Given the description of an element on the screen output the (x, y) to click on. 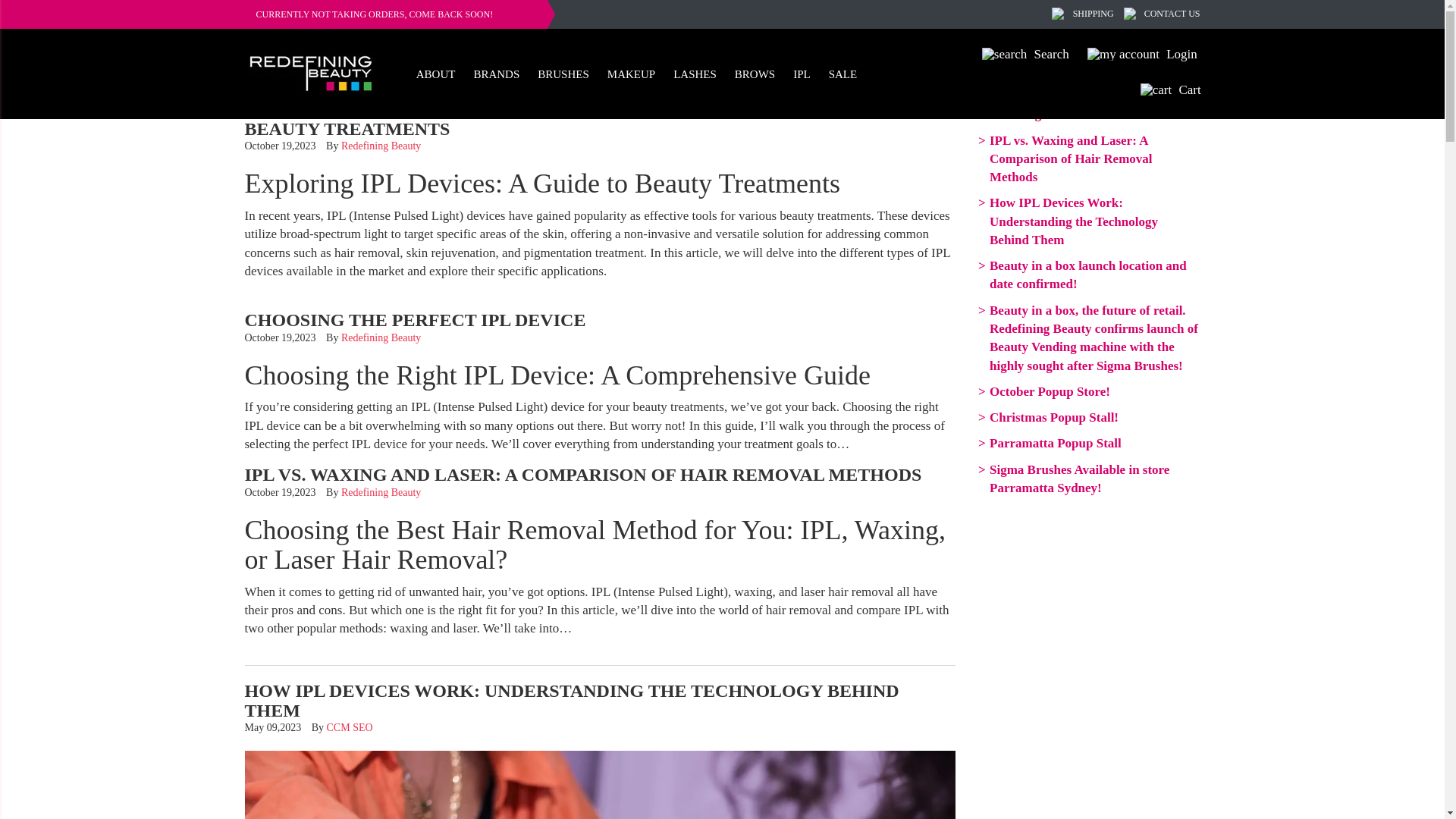
BRANDS (496, 73)
ABOUT (435, 73)
SHIPPING (1093, 13)
Posts by Redefining Beauty (380, 145)
Posts by CCM SEO (349, 727)
CONTACT US (1171, 13)
Posts by Redefining Beauty (380, 491)
Posts by Redefining Beauty (380, 337)
BRUSHES (563, 73)
